Given the description of an element on the screen output the (x, y) to click on. 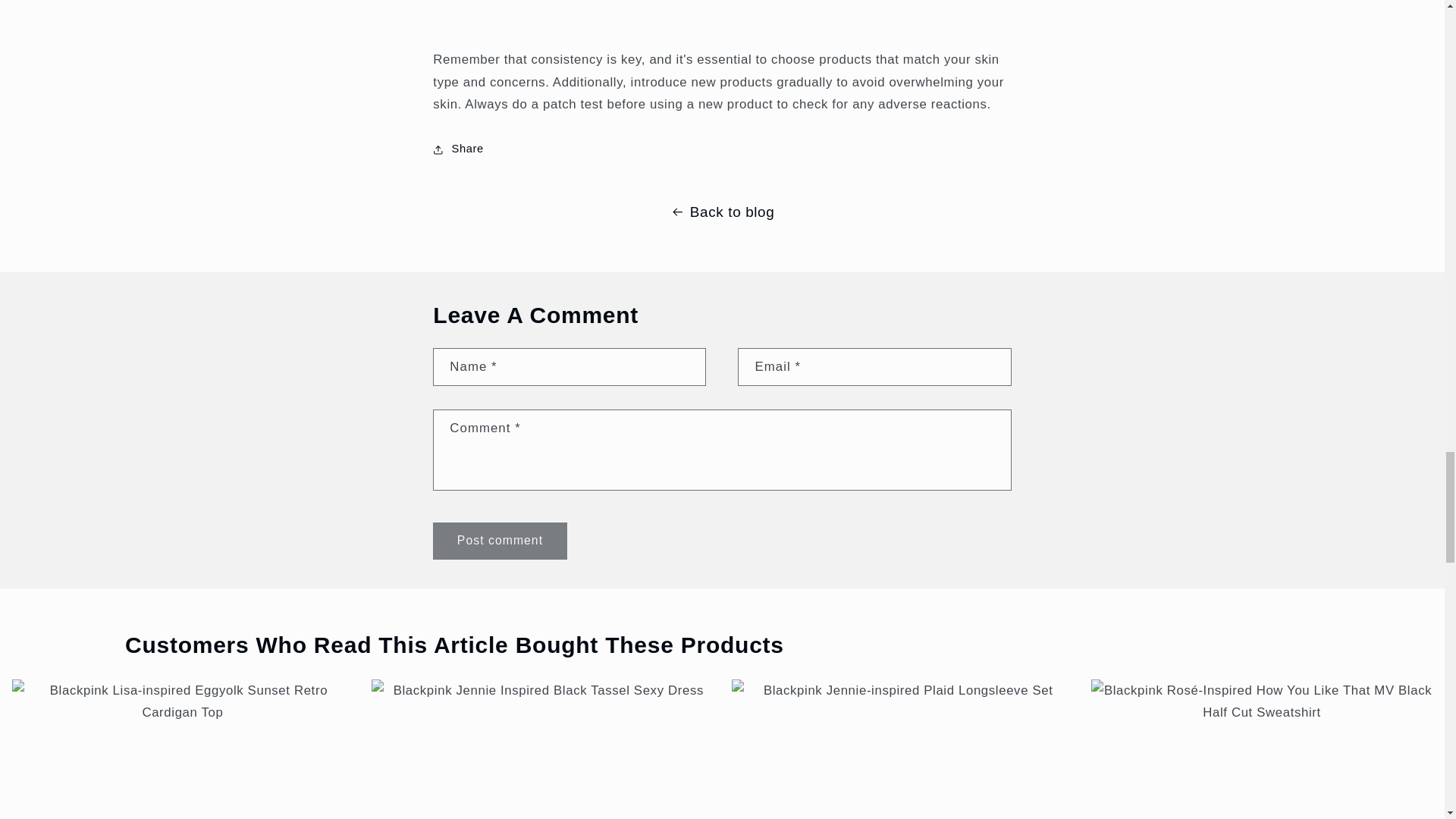
Post comment (499, 540)
